Given the description of an element on the screen output the (x, y) to click on. 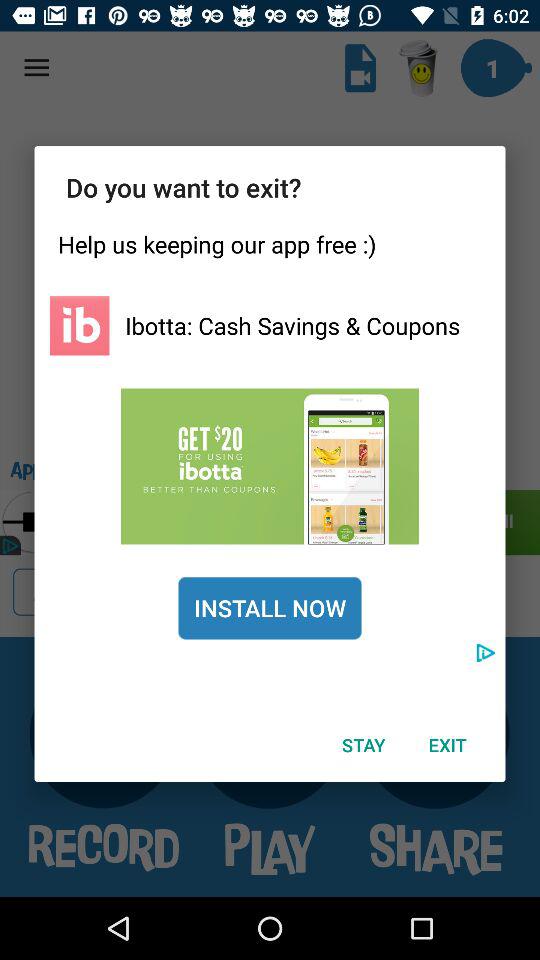
open app page (269, 466)
